Given the description of an element on the screen output the (x, y) to click on. 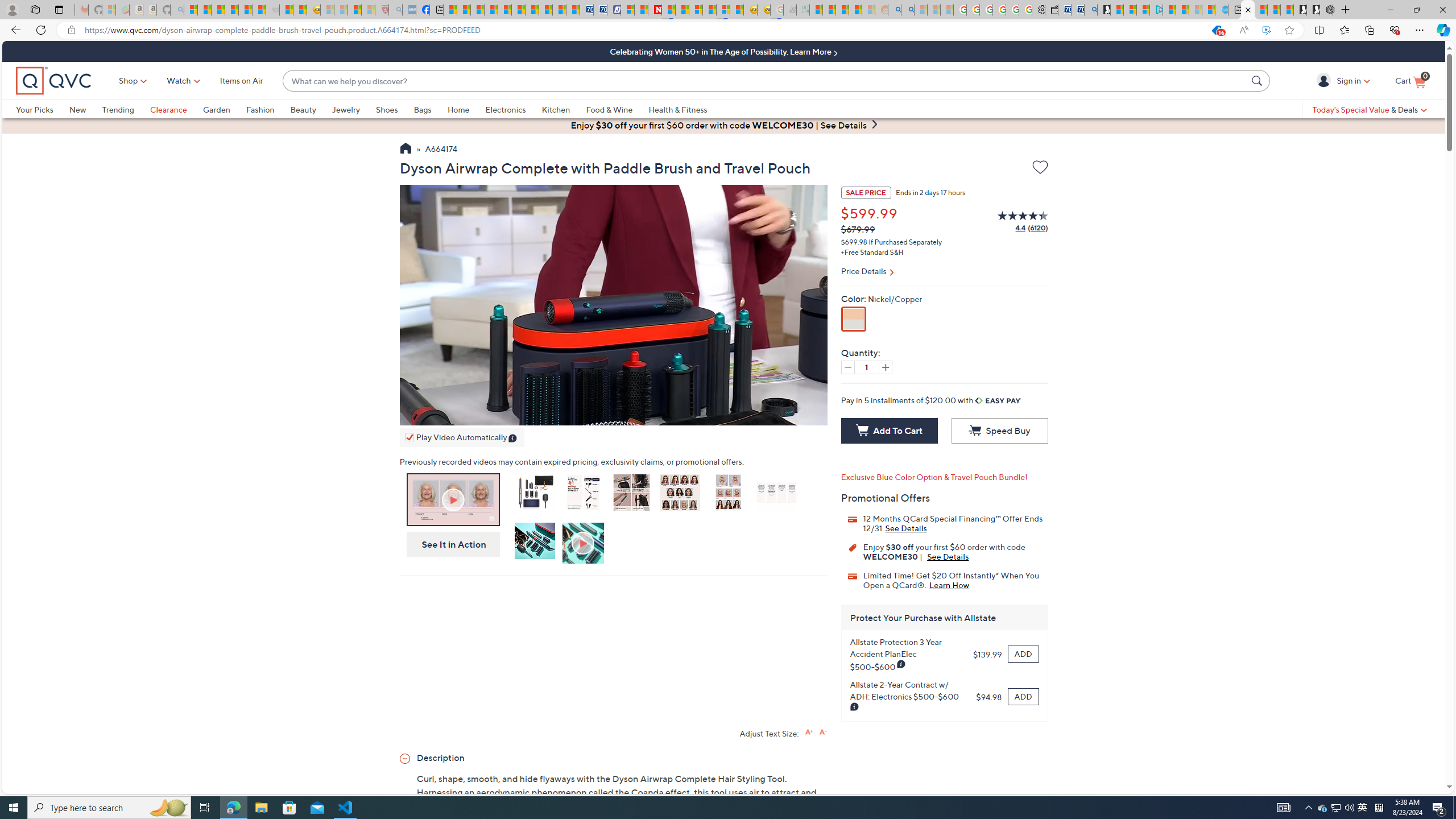
12 Popular Science Lies that Must be Corrected - Sleeping (368, 9)
Bing Real Estate - Home sales and rental listings (1090, 9)
Speed Buy (999, 430)
14 Common Myths Debunked By Scientific Facts (682, 9)
Fashion (268, 109)
Learn How (948, 584)
Bags (421, 109)
